Given the description of an element on the screen output the (x, y) to click on. 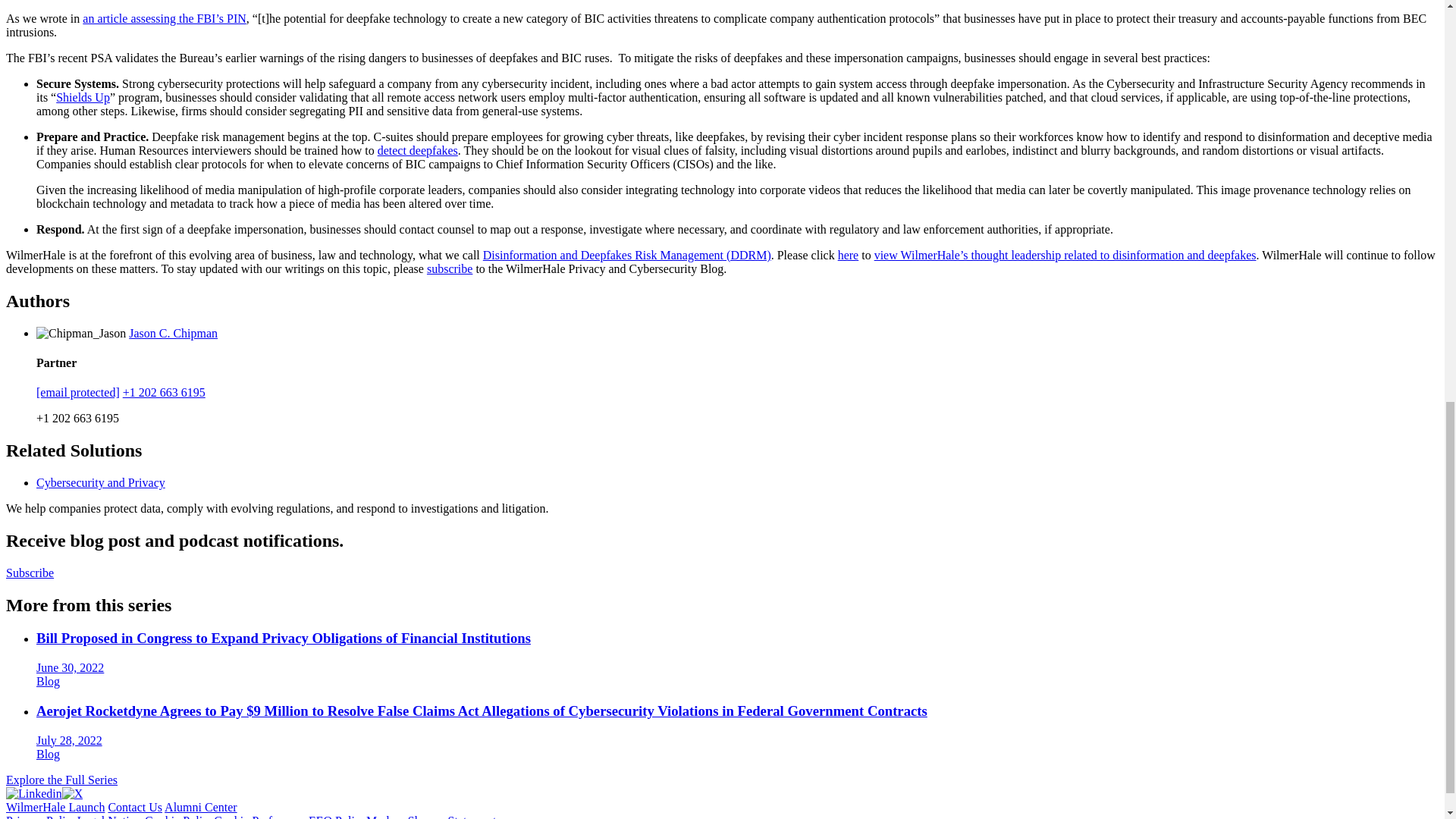
WilmerHale on LinkedIn (33, 793)
WilmerHale on X (72, 793)
here (848, 254)
Shields Up (83, 97)
Jason C. Chipman (172, 332)
detect deepfakes (417, 150)
subscribe (448, 268)
